Given the description of an element on the screen output the (x, y) to click on. 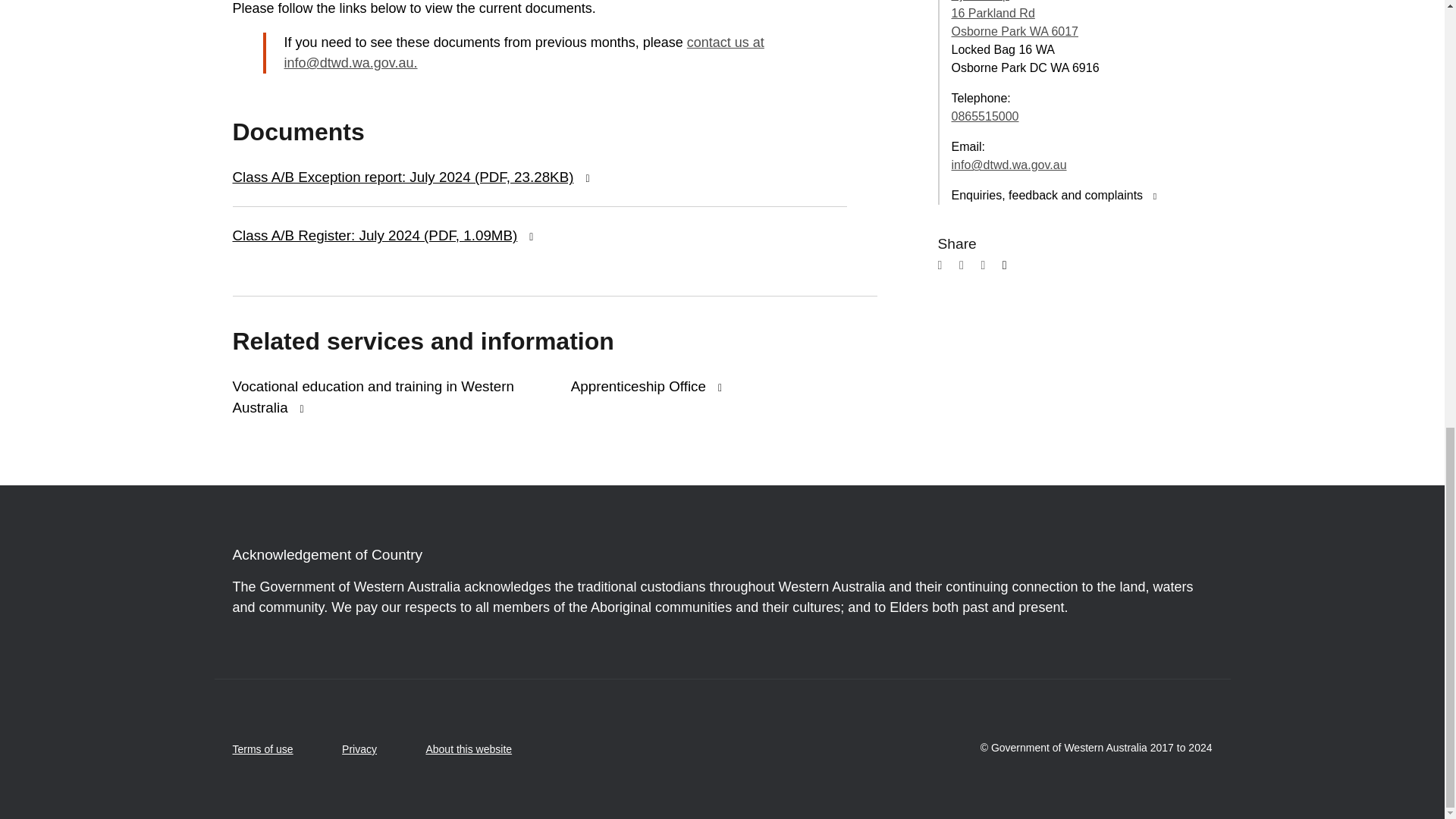
Share this page with your Facebook account (946, 268)
Share this page with LinkedIn (988, 268)
